Given the description of an element on the screen output the (x, y) to click on. 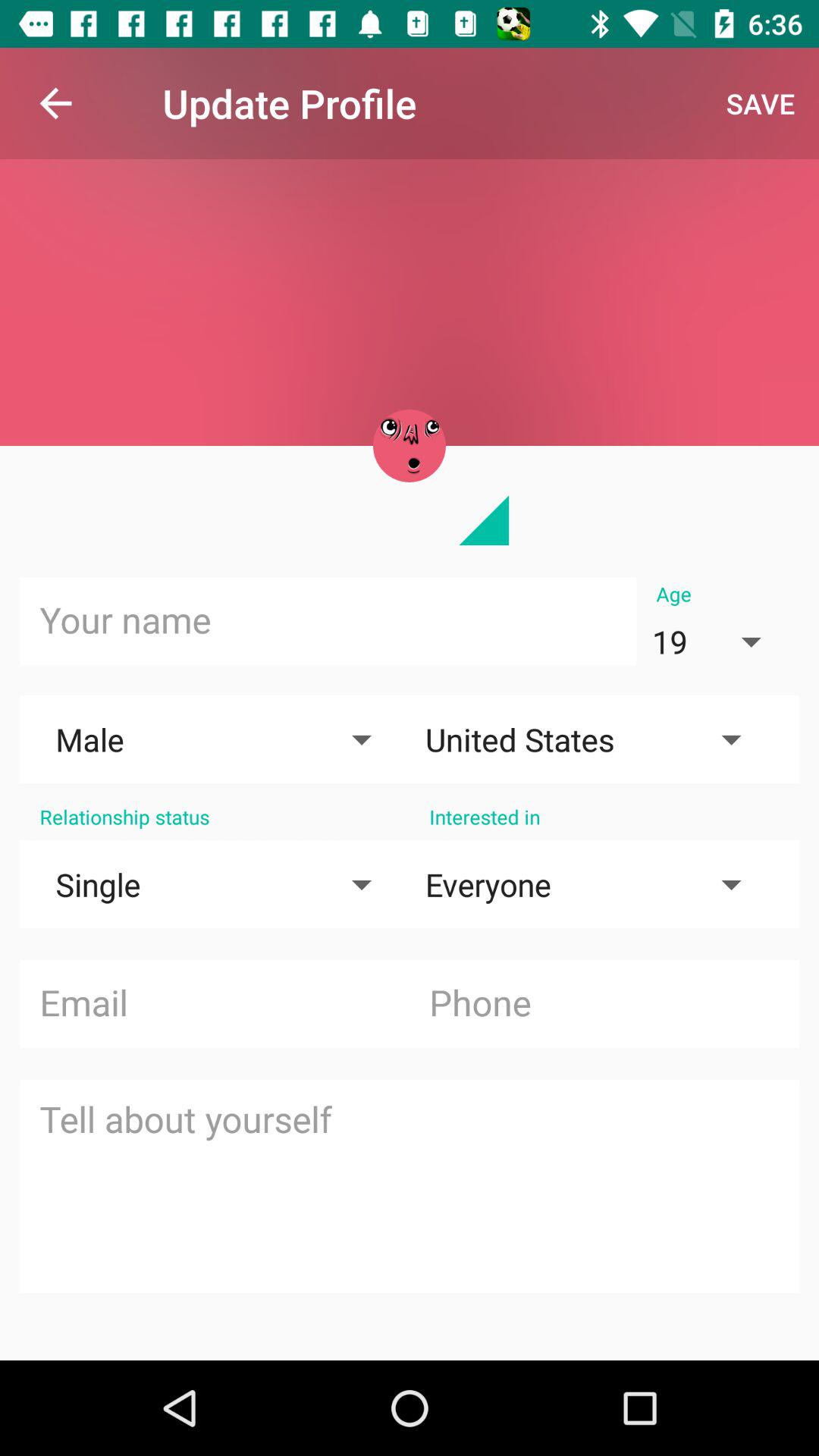
check profile photo (409, 445)
